Given the description of an element on the screen output the (x, y) to click on. 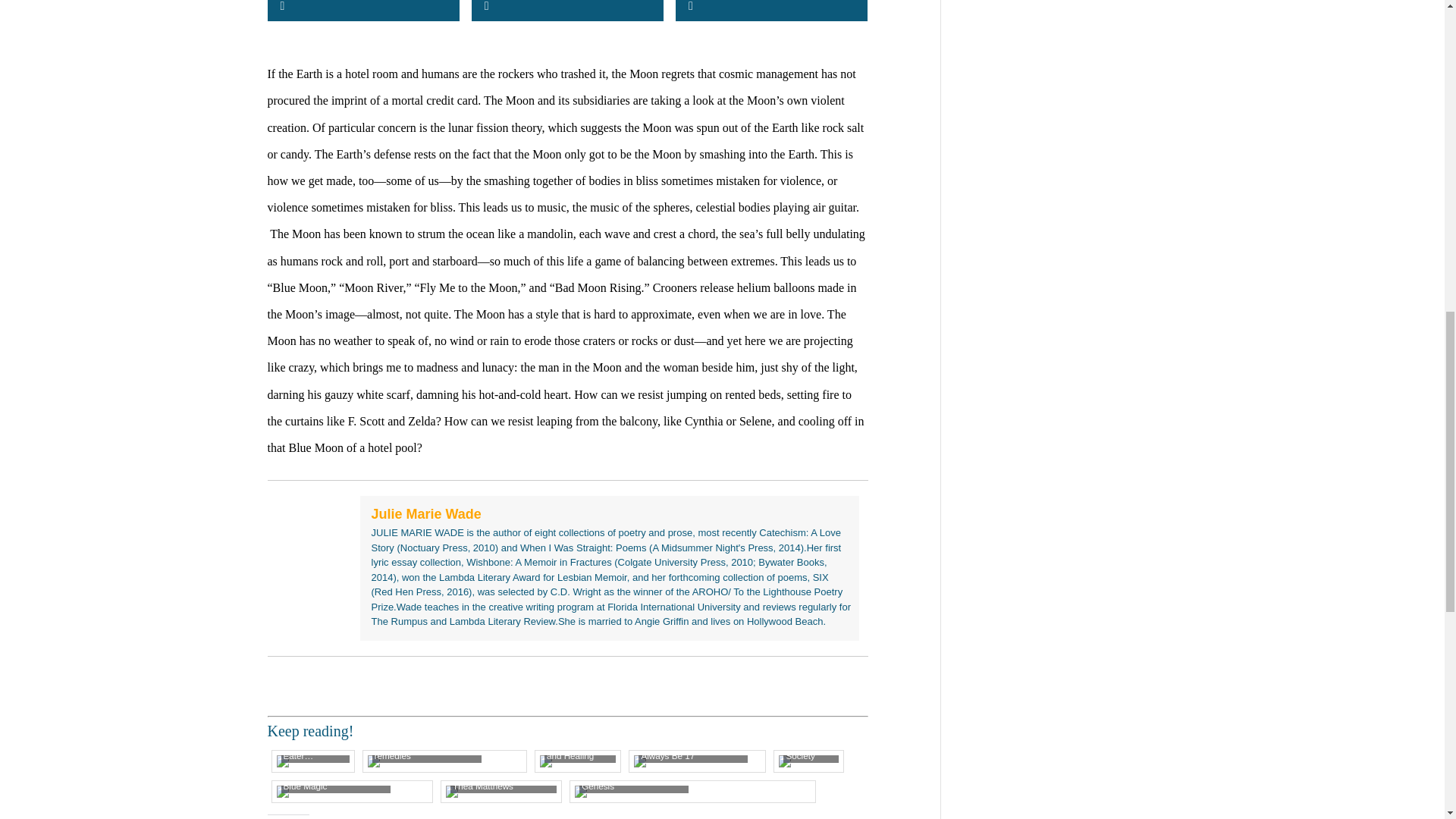
remedies (444, 761)
The Oppression Tables: Genesis (692, 791)
The Oppression Tables: Genesis (692, 791)
Thea Matthews (500, 791)
remedies (444, 761)
Blue Magic (352, 791)
A Meeting of the Film Society (808, 761)
Heartbreak, Uncertainty, and Healing (577, 761)
A Meeting of the Film Society (808, 761)
